Given the description of an element on the screen output the (x, y) to click on. 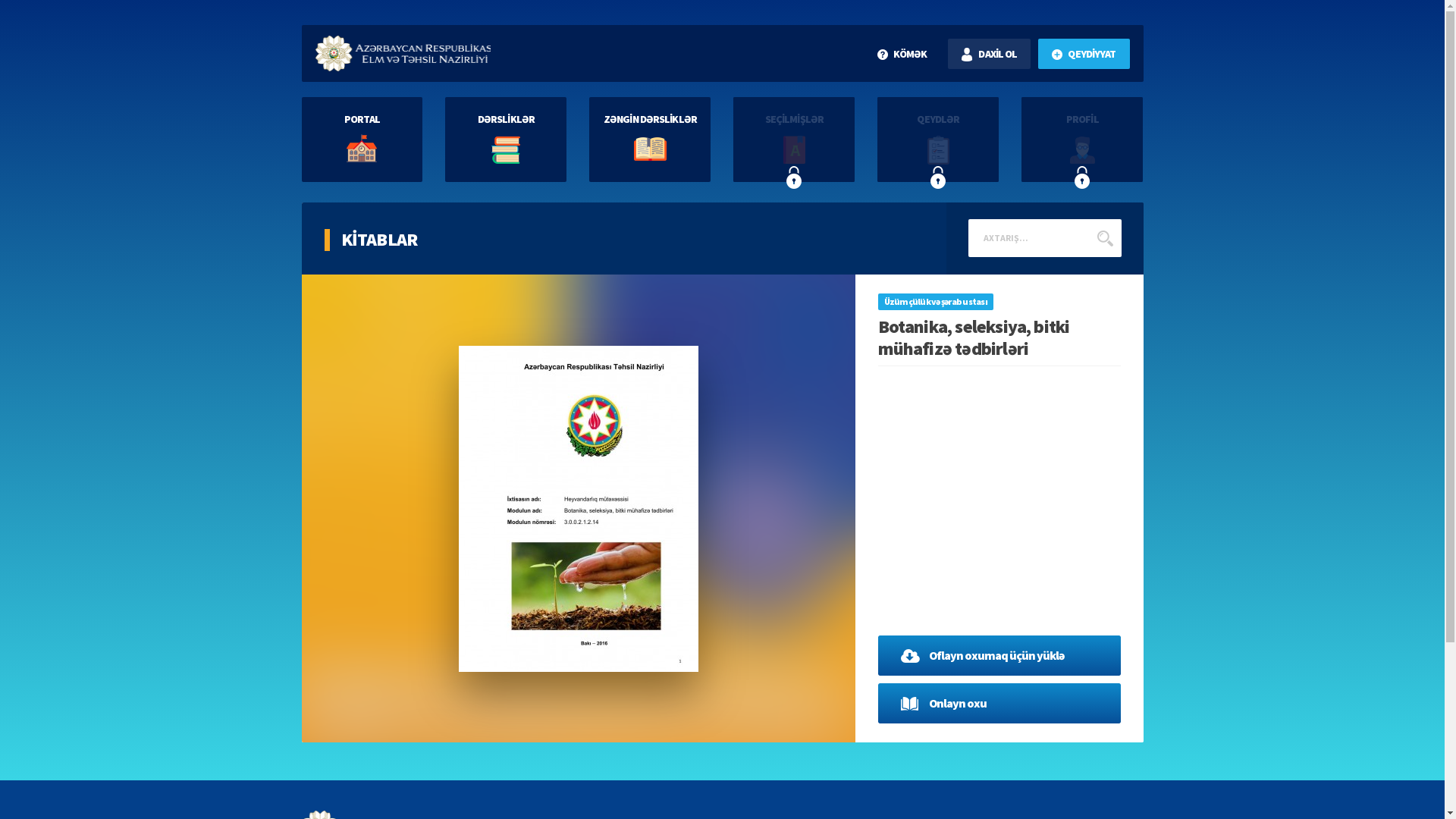
0 Element type: text (688, 249)
PORTAL Element type: text (362, 139)
AXTAR Element type: text (1105, 237)
Logo Element type: text (402, 53)
Onlayn oxu Element type: text (999, 703)
